Given the description of an element on the screen output the (x, y) to click on. 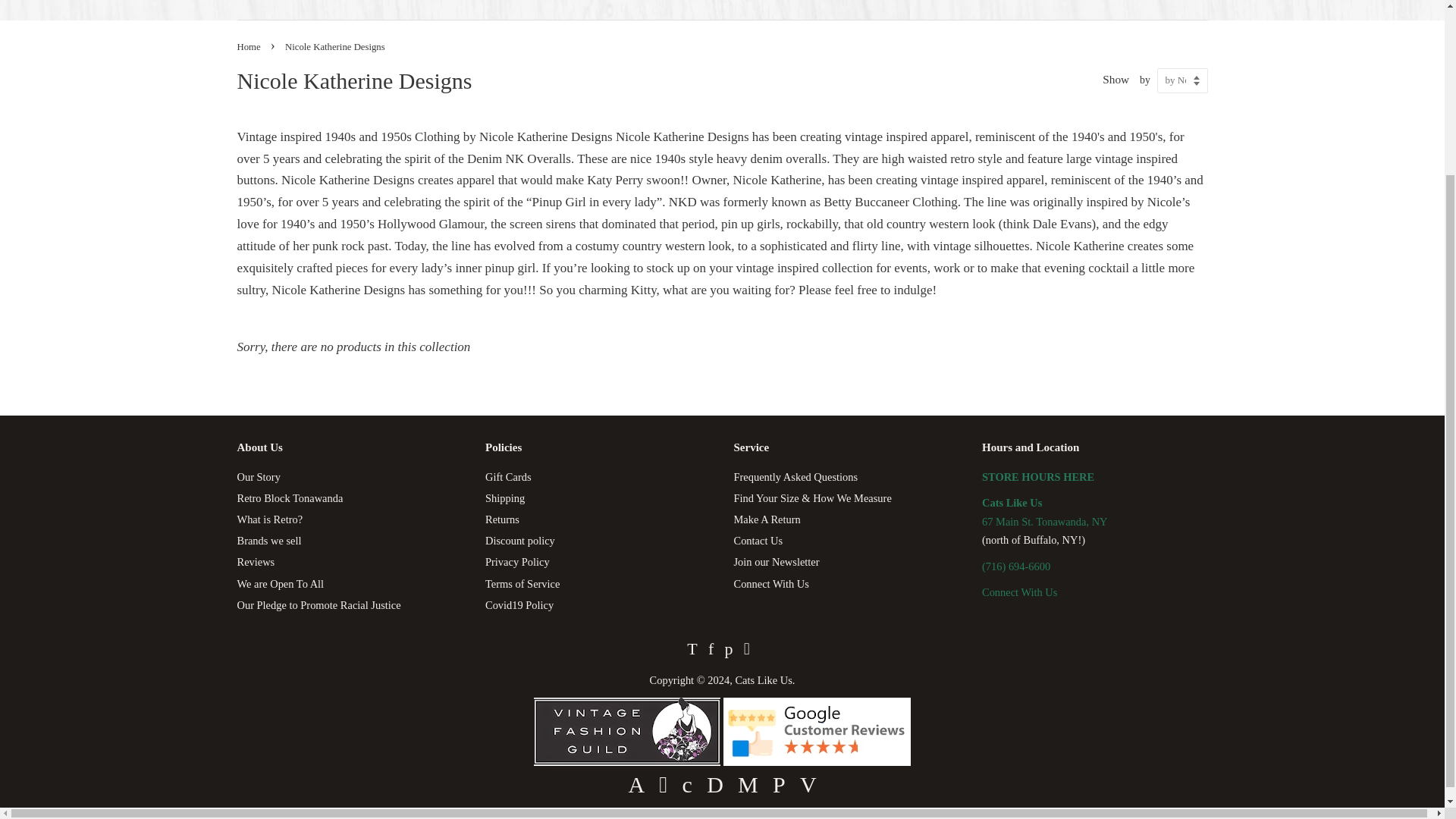
Read more (628, 761)
Back to the frontpage (249, 46)
Boutique Hours (1037, 476)
Link Tree (1019, 592)
Sort by price or newest (1182, 79)
